Given the description of an element on the screen output the (x, y) to click on. 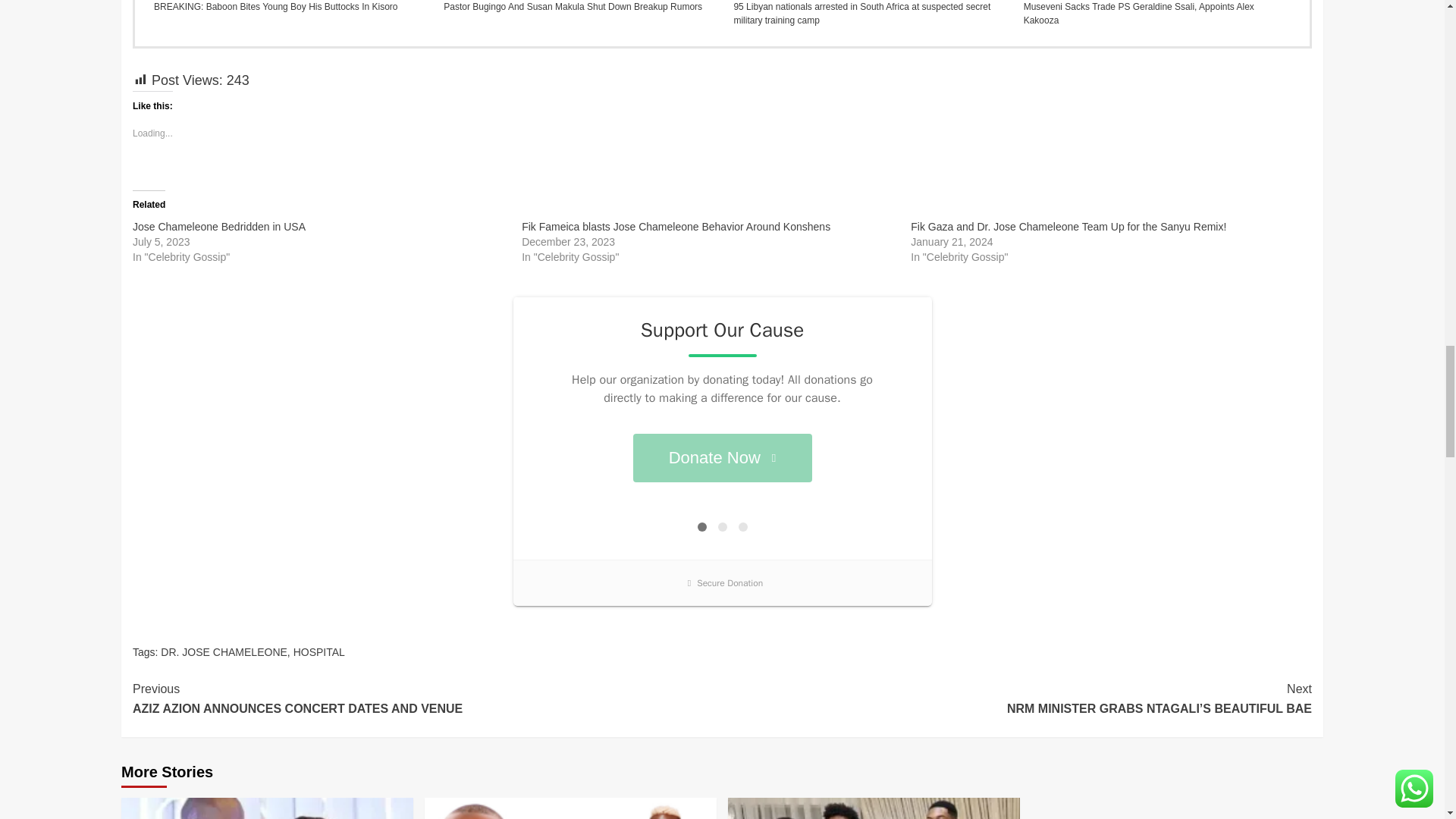
BREAKING: Baboon Bites Young Boy His Buttocks In Kisoro (287, 6)
Jose Chameleone Bedridden in USA (218, 226)
Fik Fameica blasts Jose Chameleone Behavior Around Konshens (675, 226)
